Given the description of an element on the screen output the (x, y) to click on. 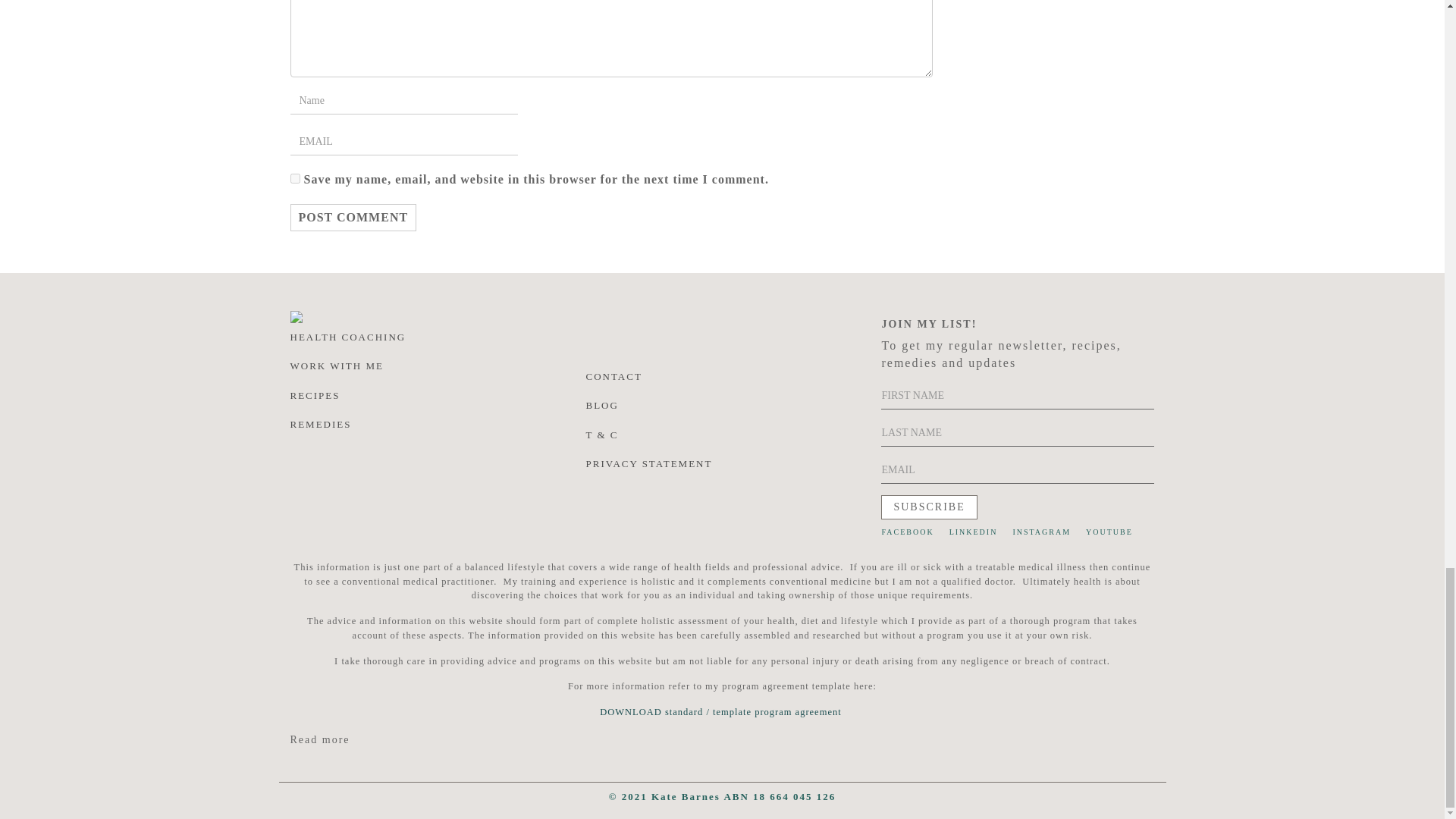
POST COMMENT (352, 216)
POST COMMENT (352, 216)
yes (294, 178)
